Given the description of an element on the screen output the (x, y) to click on. 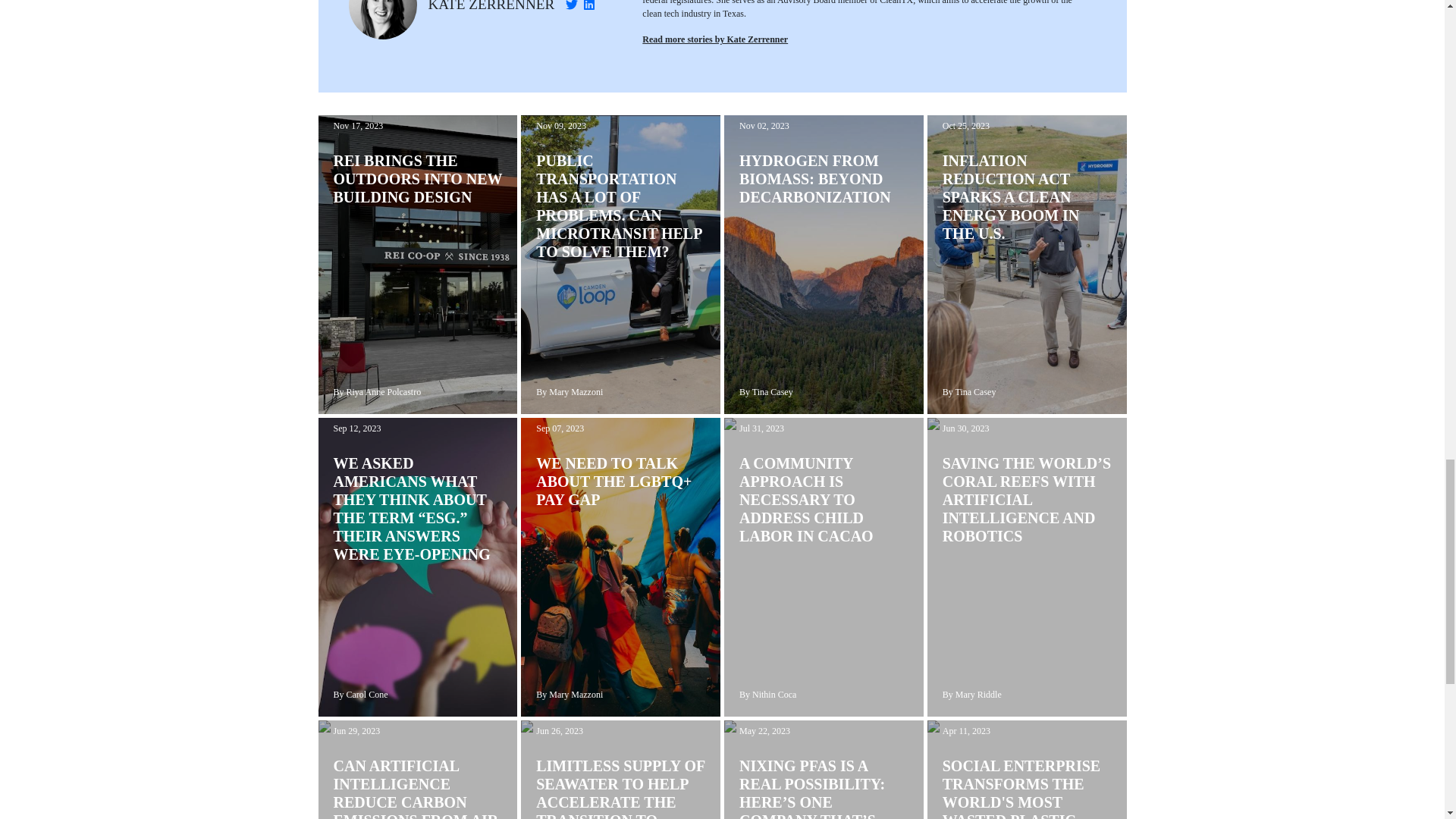
Kate Zerrenner author page (491, 6)
Read more stories by Kate Zerrenner (714, 39)
KATE ZERRENNER (491, 6)
Kate Zerrenner author page (714, 39)
